Given the description of an element on the screen output the (x, y) to click on. 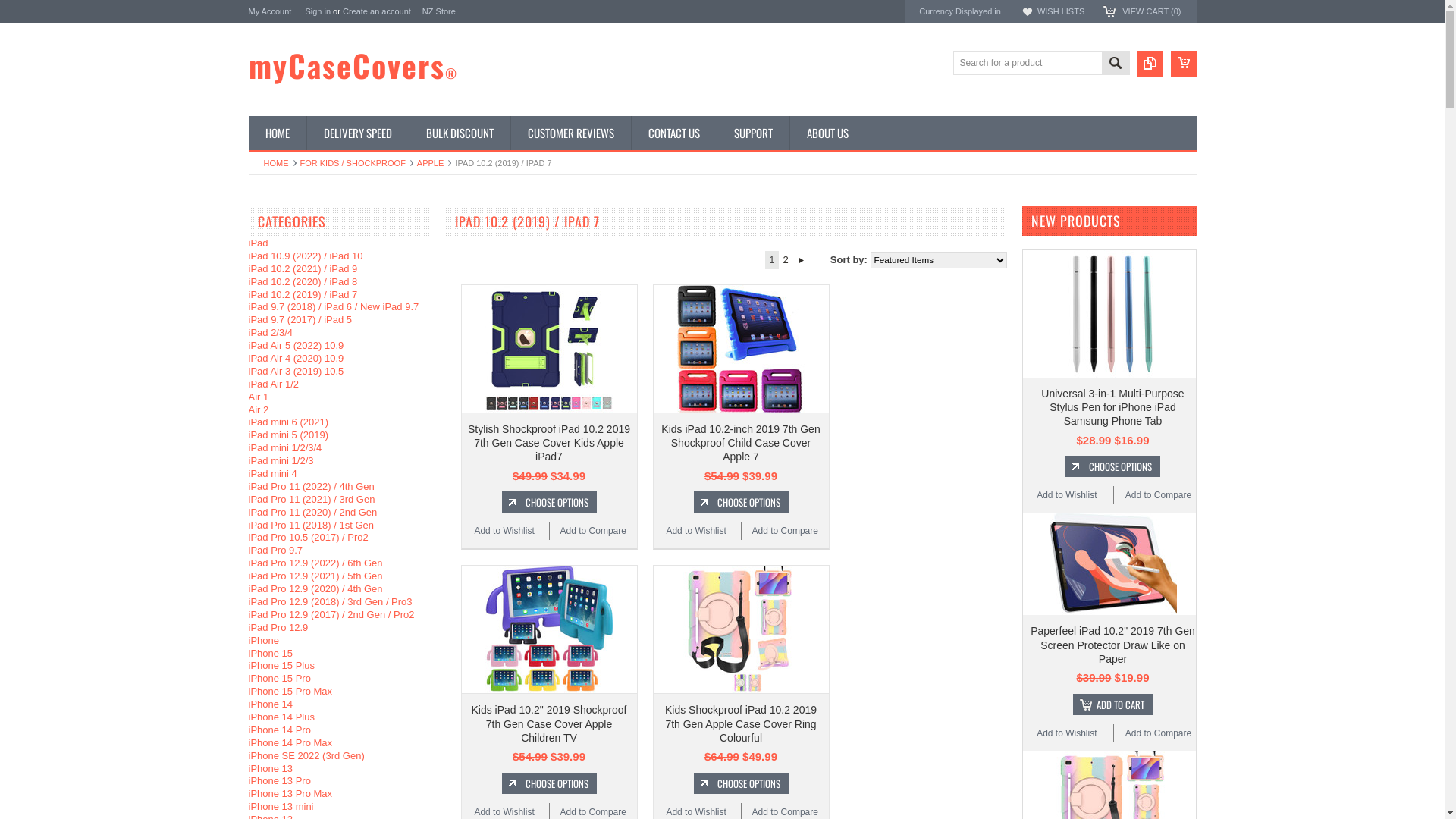
iPhone 14 Plus Element type: text (281, 716)
iPad Element type: text (258, 242)
iPad mini 5 (2019) Element type: text (288, 434)
iPhone 14 Pro Max Element type: text (290, 742)
Add to Wishlist Element type: text (503, 530)
CUSTOMER REVIEWS Element type: text (569, 133)
Create an account Element type: text (376, 11)
APPLE Element type: text (434, 162)
iPhone 14 Element type: text (270, 703)
iPhone 13 Element type: text (270, 768)
VIEW CART (0) Element type: text (1151, 10)
iPad Pro 9.7 Element type: text (275, 549)
Air 2 Element type: text (258, 409)
iPad Air 4 (2020) 10.9 Element type: text (296, 358)
iPhone 15 Pro Element type: text (279, 678)
Add to Wishlist Element type: text (1066, 495)
iPad 9.7 (2017) / iPad 5 Element type: text (300, 319)
iPad 10.9 (2022) / iPad 10 Element type: text (305, 255)
iPad Pro 10.5 (2017) / Pro2 Element type: text (308, 536)
iPhone 13 Pro Max Element type: text (290, 793)
iPhone Element type: text (263, 640)
FOR KIDS / SHOCKPROOF Element type: text (356, 162)
iPad Pro 12.9 (2020) / 4th Gen Element type: text (315, 588)
iPad 2/3/4 Element type: text (270, 332)
Add to Wishlist Element type: text (1066, 733)
Add to Wishlist Element type: text (696, 530)
Add to Compare Element type: text (1158, 733)
iPad Air 5 (2022) 10.9 Element type: text (296, 345)
iPad Pro 11 (2018) / 1st Gen Element type: text (310, 524)
iPad 9.7 (2018) / iPad 6 / New iPad 9.7 Element type: text (333, 306)
2 Element type: text (785, 260)
iPad Pro 12.9 (2021) / 5th Gen Element type: text (315, 575)
iPhone 13 mini Element type: text (280, 806)
CHOOSE OPTIONS Element type: text (1112, 465)
My Account Element type: text (269, 10)
WISH LISTS Element type: text (1060, 10)
iPhone 15 Element type: text (270, 652)
BULK DISCOUNT Element type: text (458, 133)
Add to Compare Element type: text (593, 530)
iPad Pro 11 (2021) / 3rd Gen Element type: text (311, 499)
Add to Compare Element type: text (1158, 495)
iPad Pro 12.9 (2017) / 2nd Gen / Pro2 Element type: text (331, 614)
iPad Air 3 (2019) 10.5 Element type: text (296, 370)
Air 1 Element type: text (258, 396)
HOME Element type: text (279, 162)
iPhone SE 2022 (3rd Gen) Element type: text (306, 755)
CONTACT US Element type: text (673, 133)
iPhone 15 Pro Max Element type: text (290, 690)
CHOOSE OPTIONS Element type: text (740, 501)
NZ Store Element type: text (438, 10)
iPad Pro 12.9 (2022) / 6th Gen Element type: text (315, 562)
Sign in Element type: text (317, 11)
HOME Element type: text (277, 133)
ABOUT US Element type: text (826, 133)
SUPPORT Element type: text (751, 133)
CHOOSE OPTIONS Element type: text (549, 782)
iPad 10.2 (2021) / iPad 9 Element type: text (302, 268)
CHOOSE OPTIONS Element type: text (549, 501)
View Cart Element type: hover (1183, 63)
iPhone 14 Pro Element type: text (279, 729)
iPad 10.2 (2019) / iPad 7 Element type: text (302, 294)
iPad mini 1/2/3 Element type: text (280, 460)
SEARCH Element type: text (1114, 64)
iPhone 15 Plus Element type: text (281, 665)
iPad 10.2 (2020) / iPad 8 Element type: text (302, 281)
iPad Pro 12.9 Element type: text (278, 627)
iPad Pro 11 (2022) / 4th Gen Element type: text (311, 486)
iPad Pro 12.9 (2018) / 3rd Gen / Pro3 Element type: text (330, 601)
Add to Compare Element type: text (784, 530)
ADD TO CART Element type: text (1112, 704)
CHOOSE OPTIONS Element type: text (740, 782)
iPad mini 4 Element type: text (272, 473)
iPad mini 1/2/3/4 Element type: text (285, 447)
iPhone 13 Pro Element type: text (279, 780)
iPad Air 1/2 Element type: text (273, 383)
iPad Pro 11 (2020) / 2nd Gen Element type: text (312, 511)
iPad mini 6 (2021) Element type: text (288, 421)
DELIVERY SPEED Element type: text (357, 133)
Compare Product Element type: hover (1150, 63)
